Given the description of an element on the screen output the (x, y) to click on. 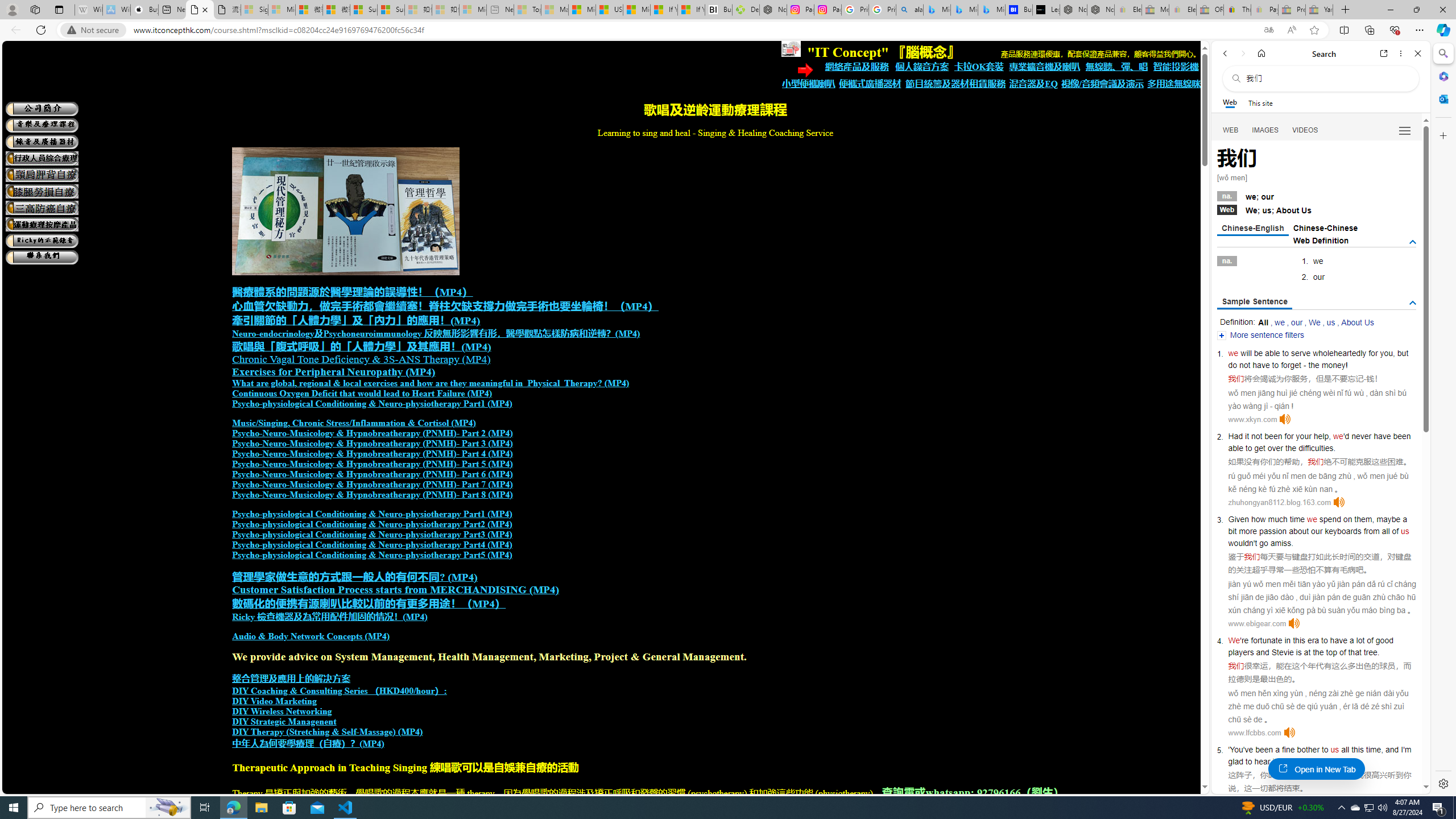
New tab - Sleeping (499, 9)
Forward (1242, 53)
Microsoft Bing Travel - Flights from Hong Kong to Bangkok (936, 9)
Threats and offensive language policy | eBay (1236, 9)
forget (1291, 364)
hear (1262, 760)
all (1344, 749)
